Given the description of an element on the screen output the (x, y) to click on. 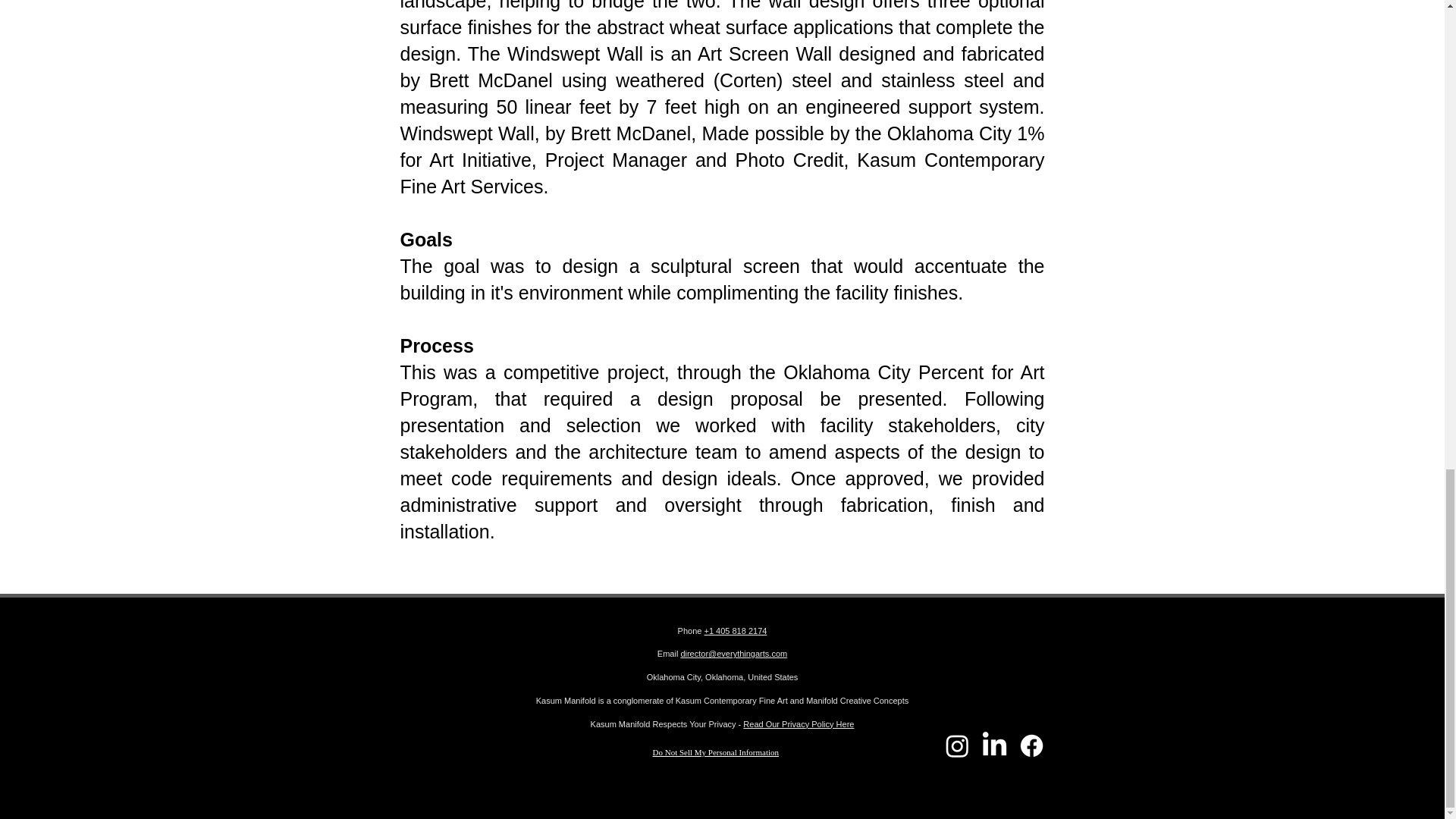
Do Not Sell My Personal Information (715, 752)
Read Our Privacy Policy Here (797, 723)
